Given the description of an element on the screen output the (x, y) to click on. 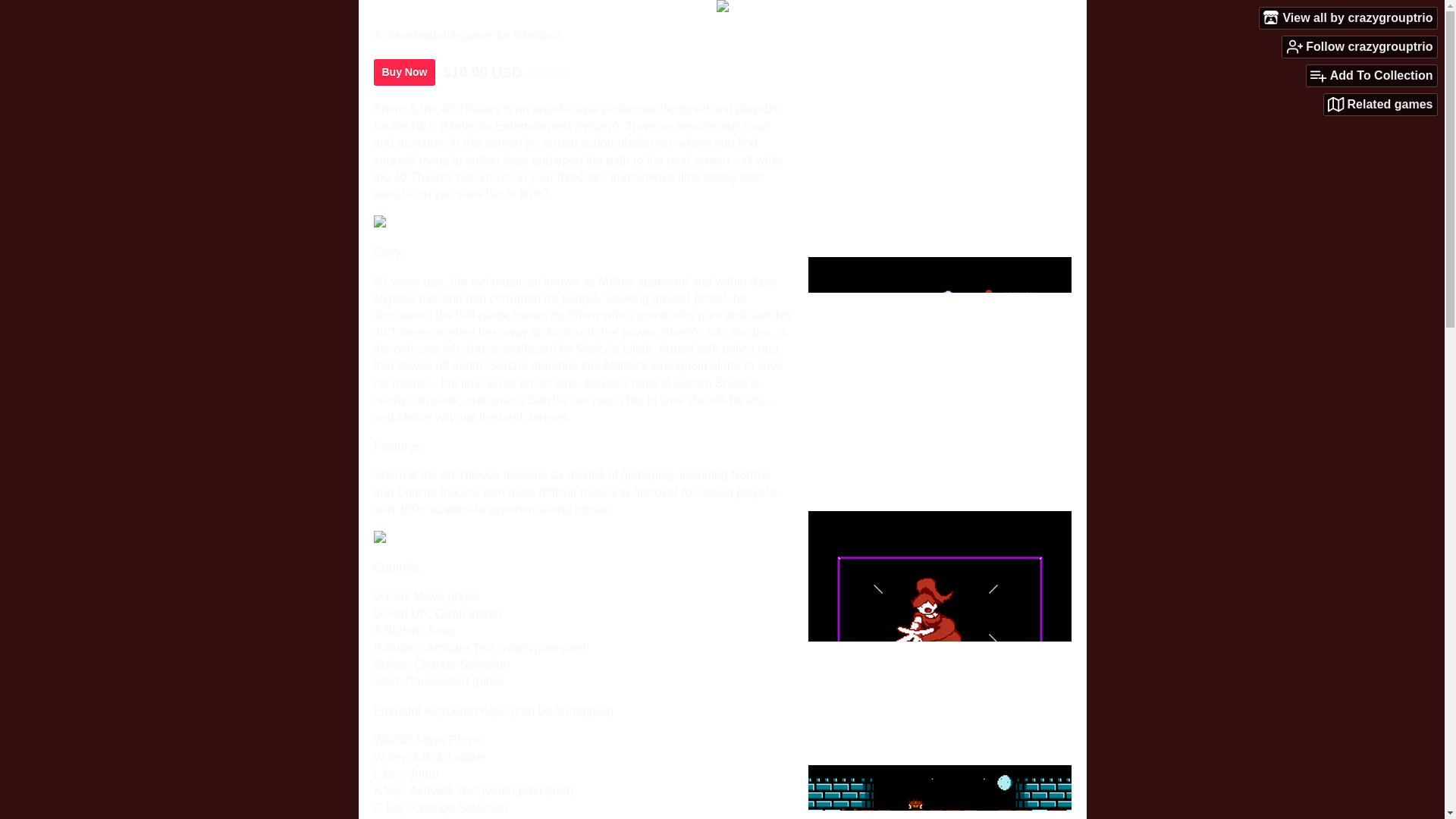
Follow crazygrouptrio (1359, 46)
Buy Now (403, 71)
View all by crazygrouptrio (1348, 17)
Add To Collection (1371, 75)
Related games (1380, 104)
